Given the description of an element on the screen output the (x, y) to click on. 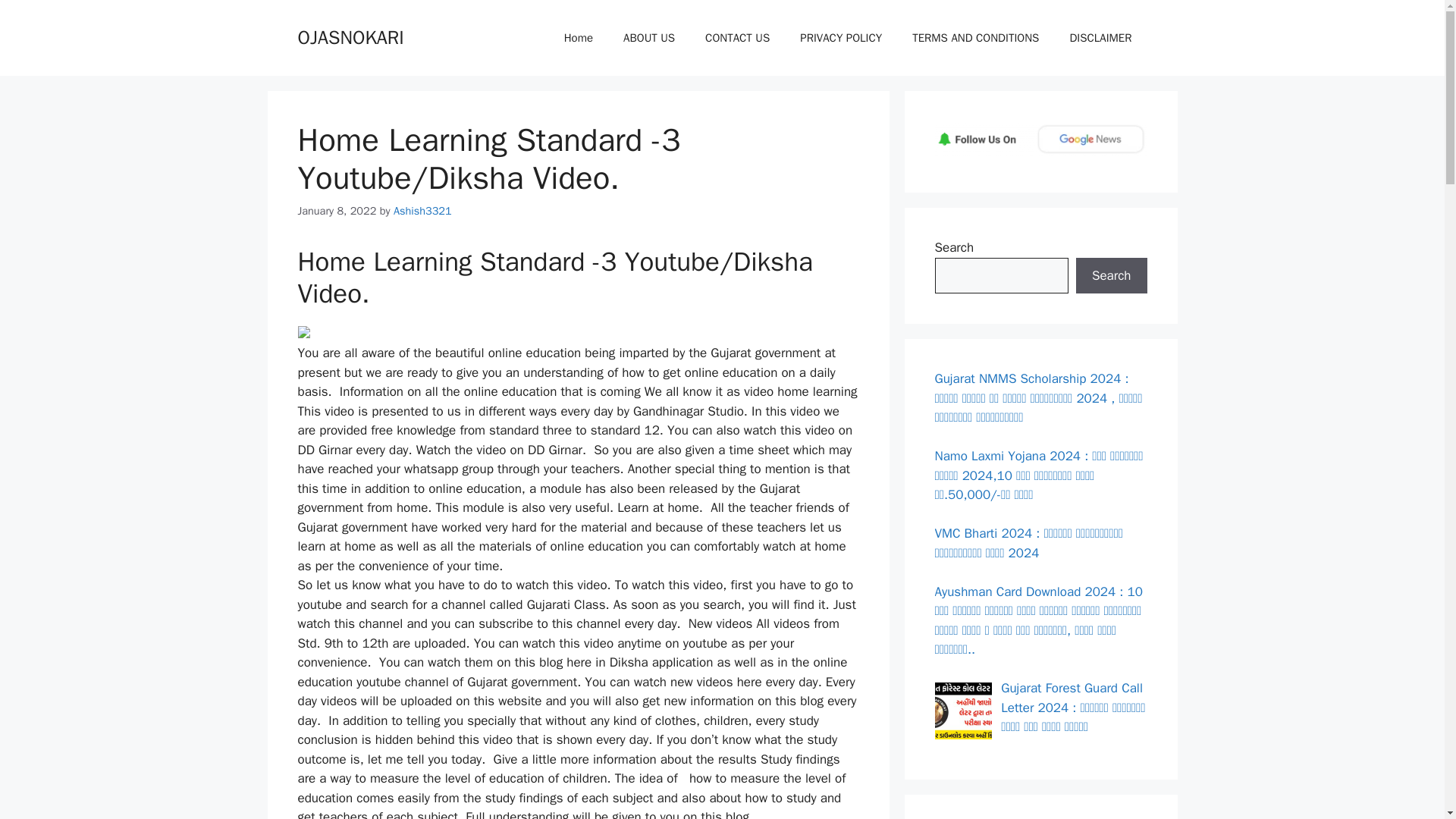
Search (1111, 275)
OJASNOKARI (350, 37)
ABOUT US (649, 37)
CONTACT US (737, 37)
TERMS AND CONDITIONS (975, 37)
View all posts by Ashish3321 (422, 210)
DISCLAIMER (1100, 37)
PRIVACY POLICY (840, 37)
Ashish3321 (422, 210)
Home (578, 37)
